Given the description of an element on the screen output the (x, y) to click on. 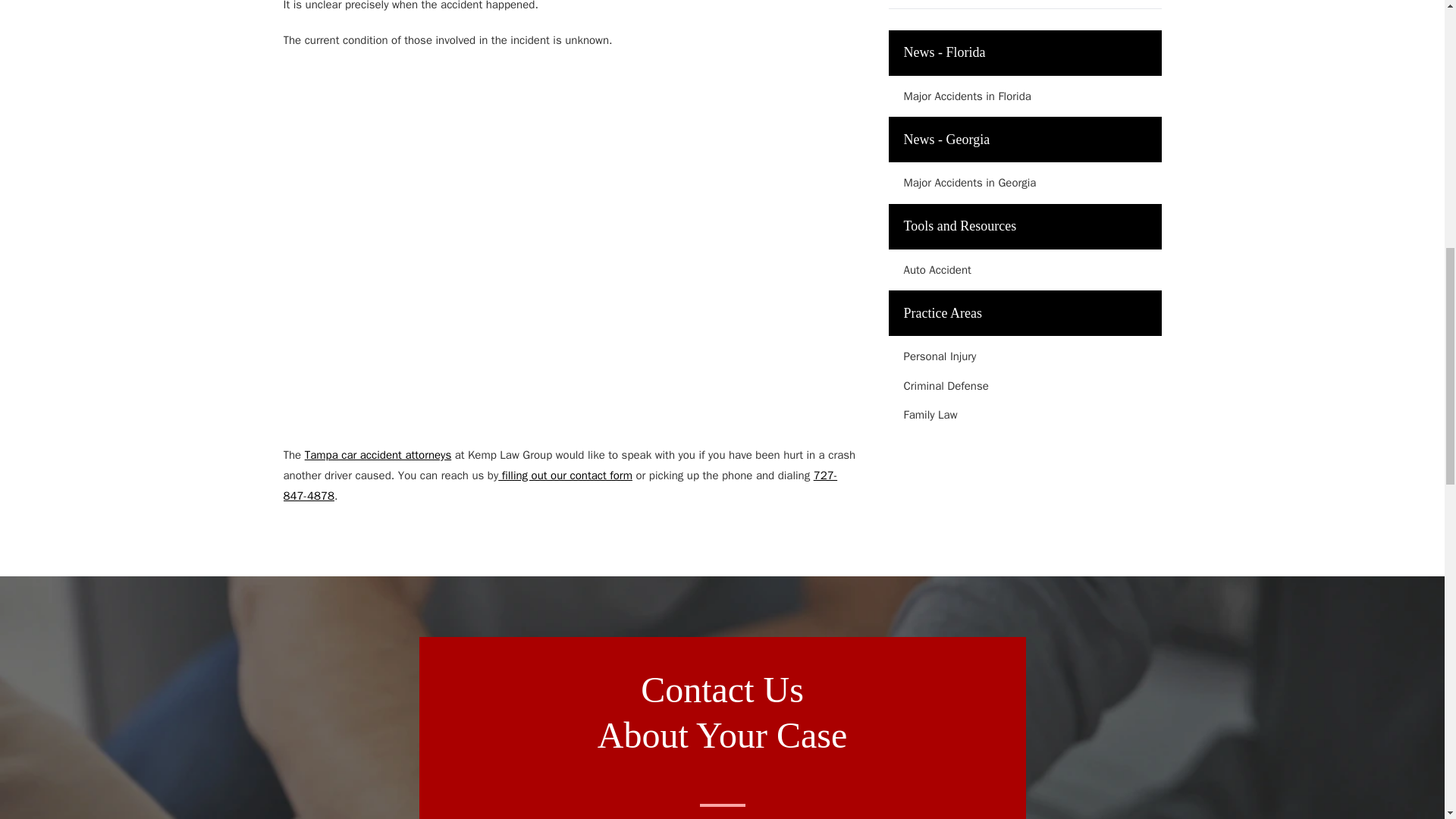
Tampa car accident attorneys (377, 454)
727-847-4878 (560, 485)
filling out our contact form (564, 475)
